Given the description of an element on the screen output the (x, y) to click on. 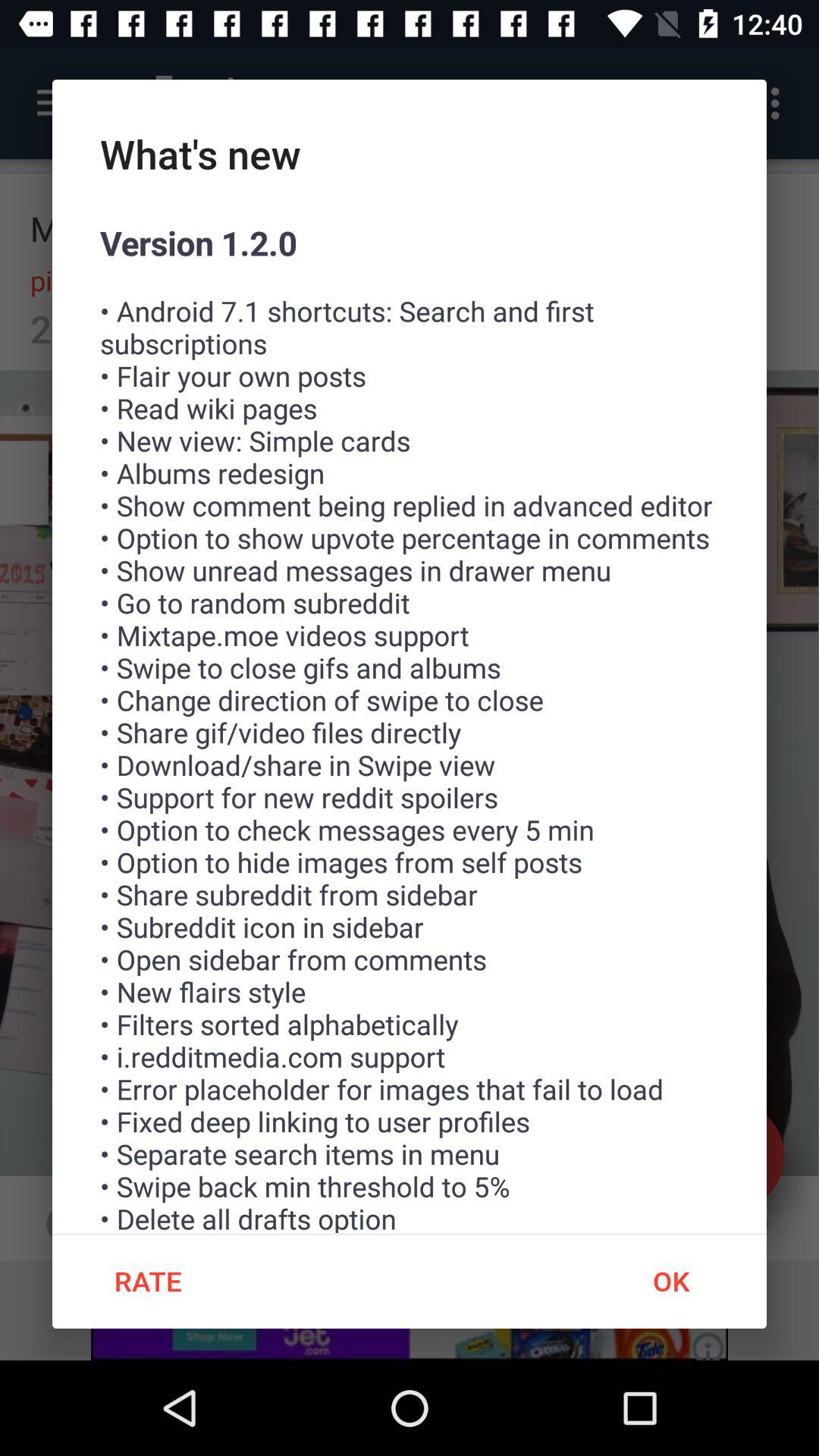
swipe until rate icon (147, 1280)
